Given the description of an element on the screen output the (x, y) to click on. 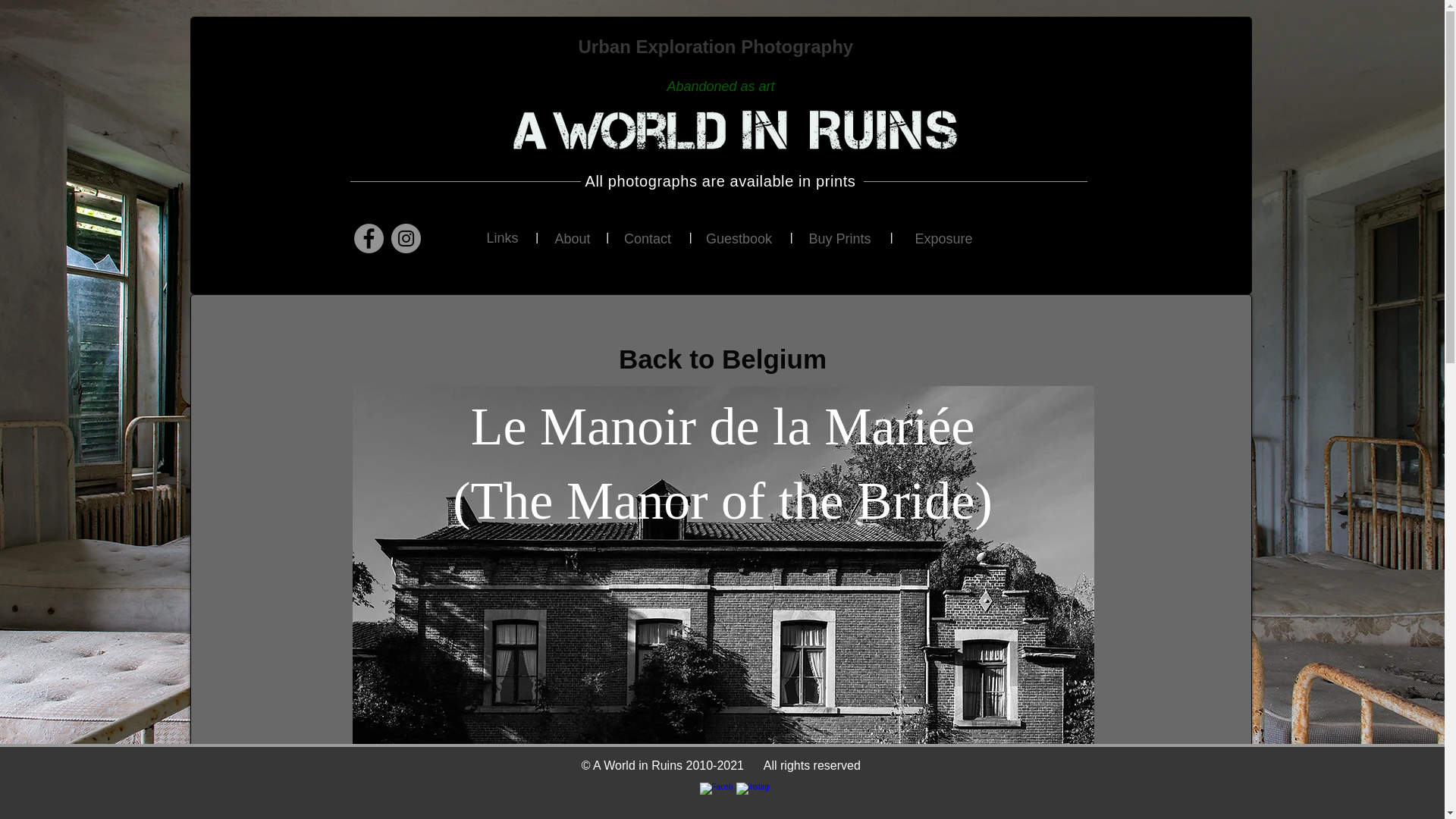
Urban Exploration Photography (717, 46)
Guestbook (738, 238)
Contact (647, 238)
Back to Belgium (722, 359)
Exposure (943, 239)
About (572, 238)
Links (501, 238)
Buy Prints (840, 239)
